Given the description of an element on the screen output the (x, y) to click on. 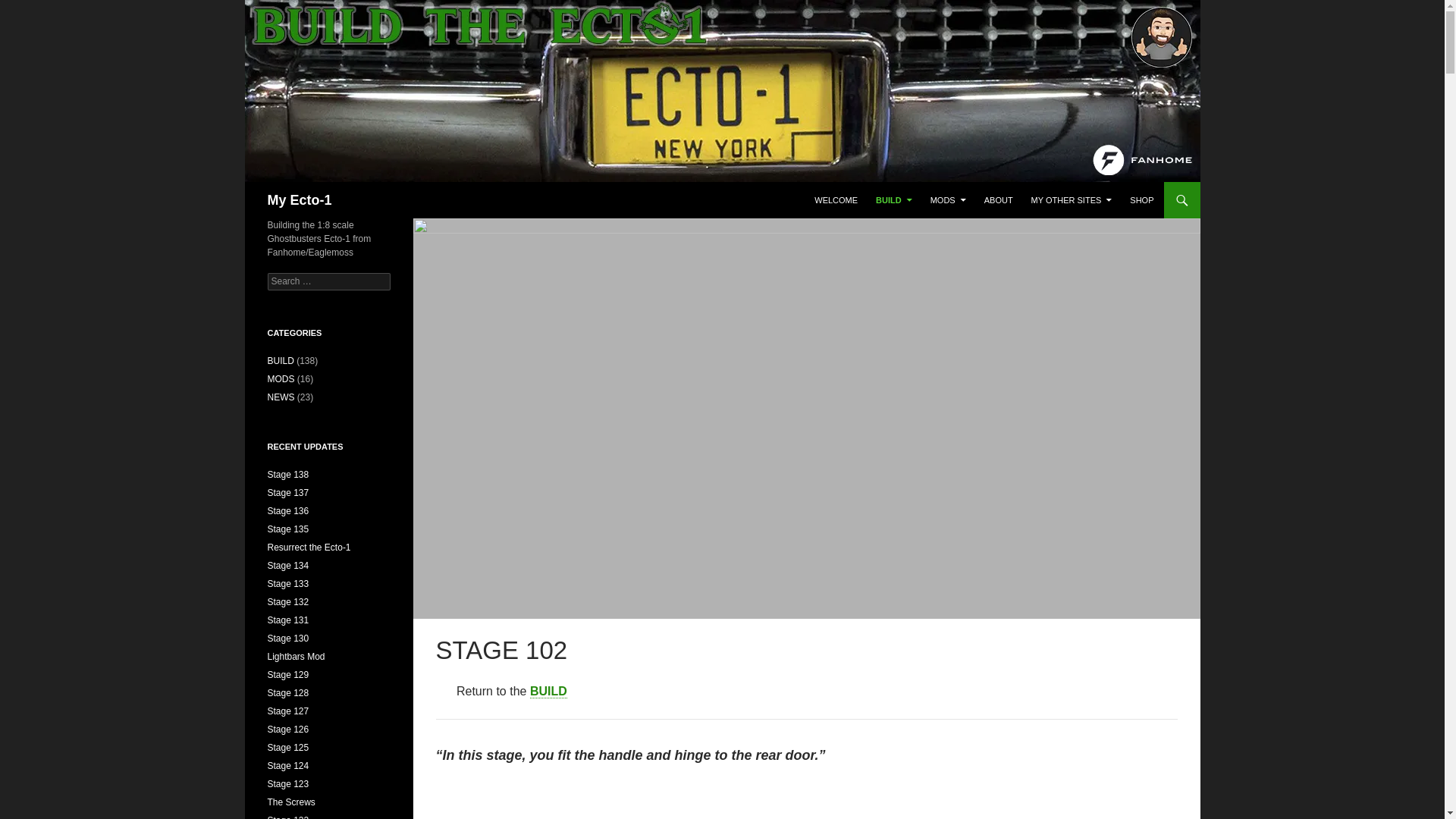
BUILD (893, 199)
WELCOME (835, 199)
My Ecto-1 (298, 199)
